Given the description of an element on the screen output the (x, y) to click on. 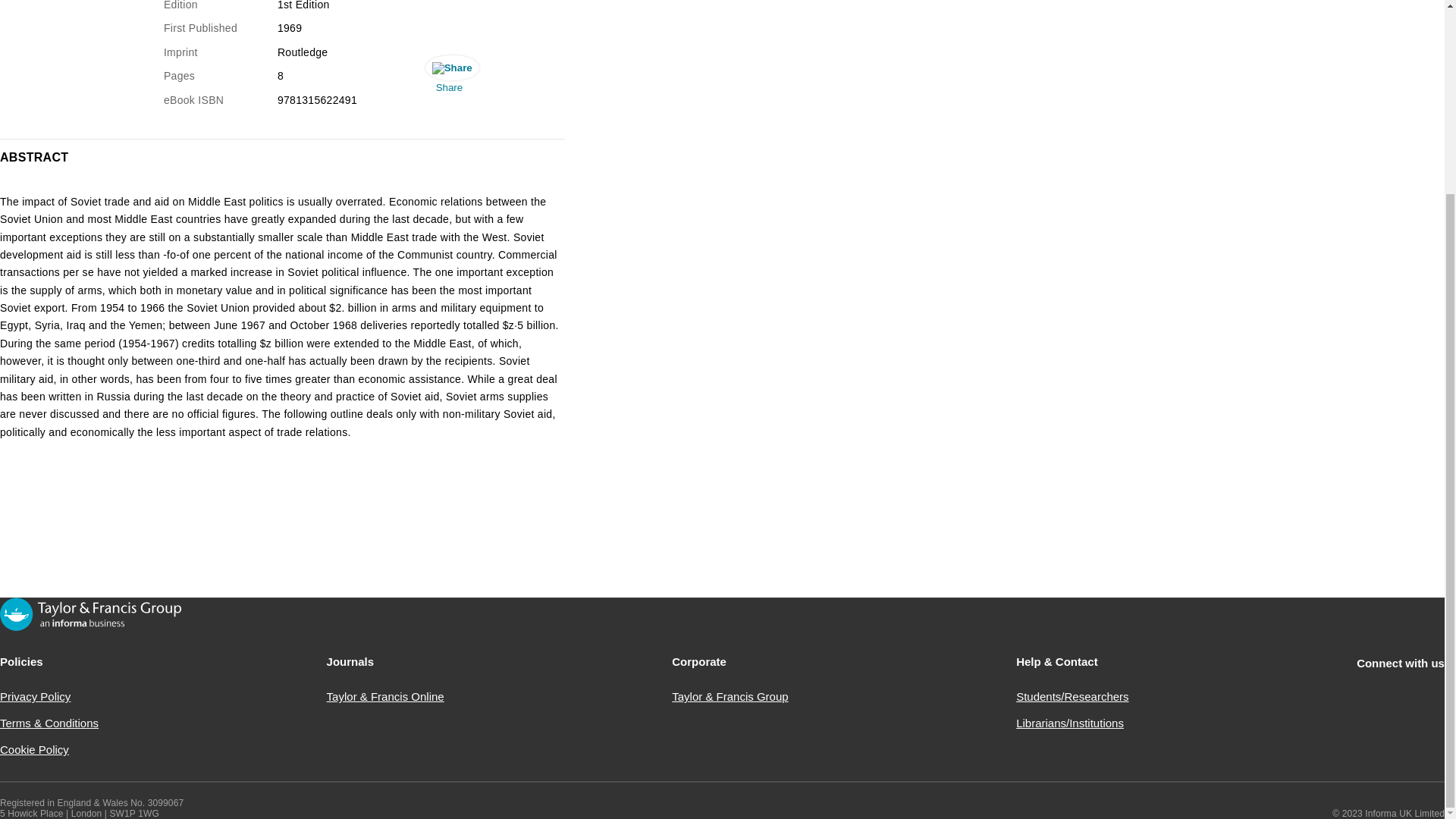
Privacy Policy (34, 696)
Cookie Policy (34, 749)
Share (448, 77)
